Given the description of an element on the screen output the (x, y) to click on. 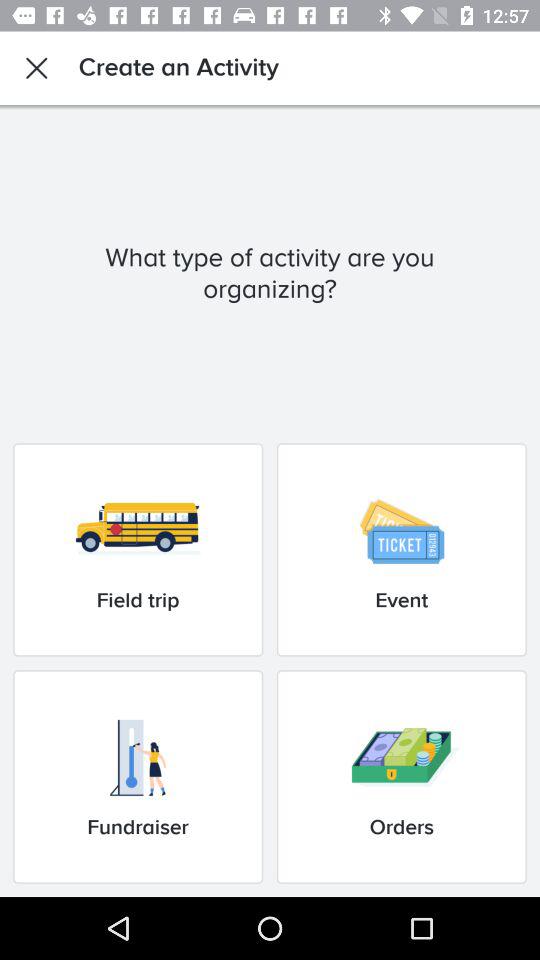
launch icon next to the create an activity item (36, 68)
